Given the description of an element on the screen output the (x, y) to click on. 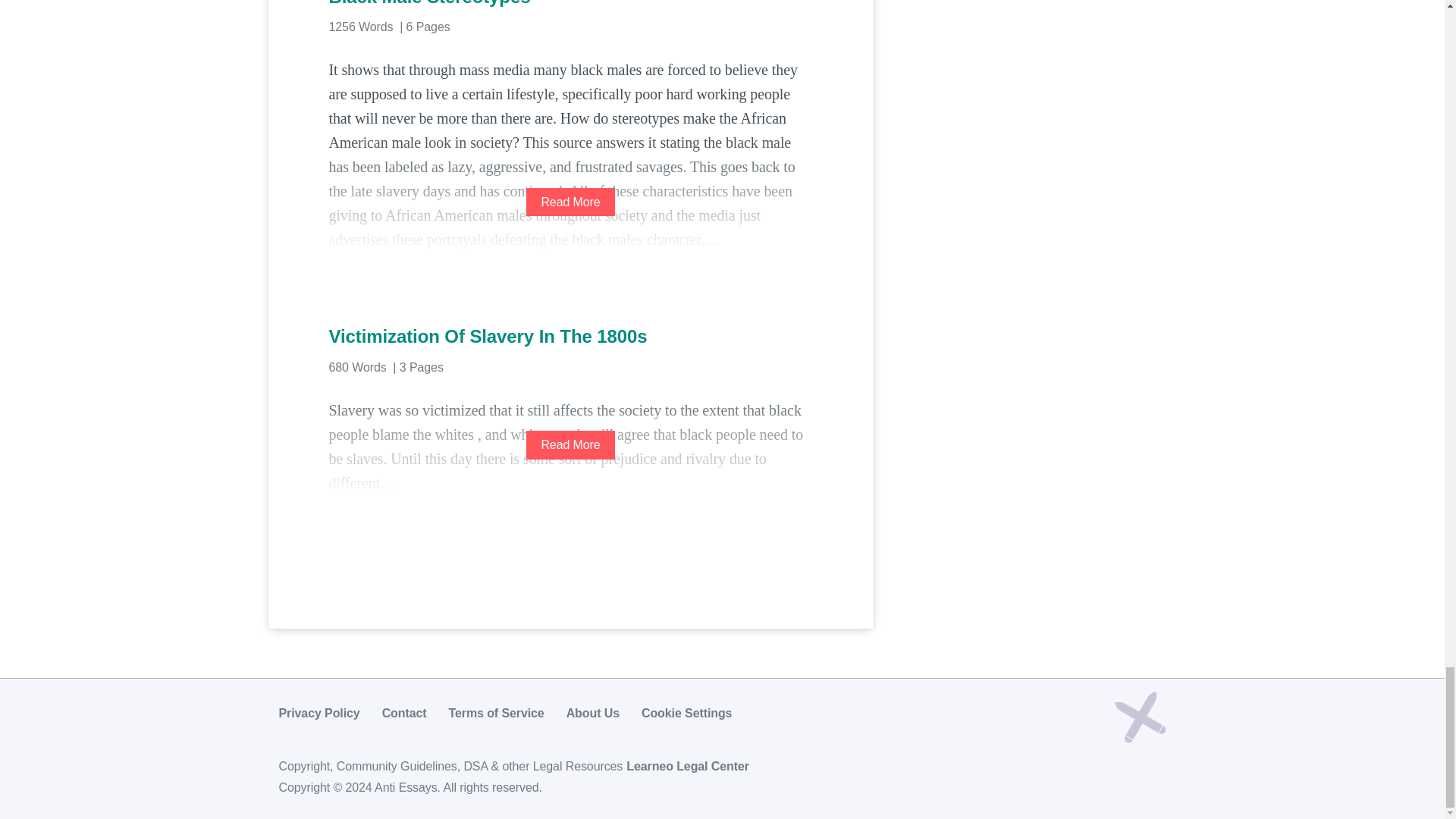
Black Male Stereotypes (570, 4)
Read More (569, 202)
Victimization Of Slavery In The 1800s (570, 336)
Contact (403, 712)
Terms of Service (495, 712)
Read More (569, 444)
Privacy Policy (319, 712)
